Given the description of an element on the screen output the (x, y) to click on. 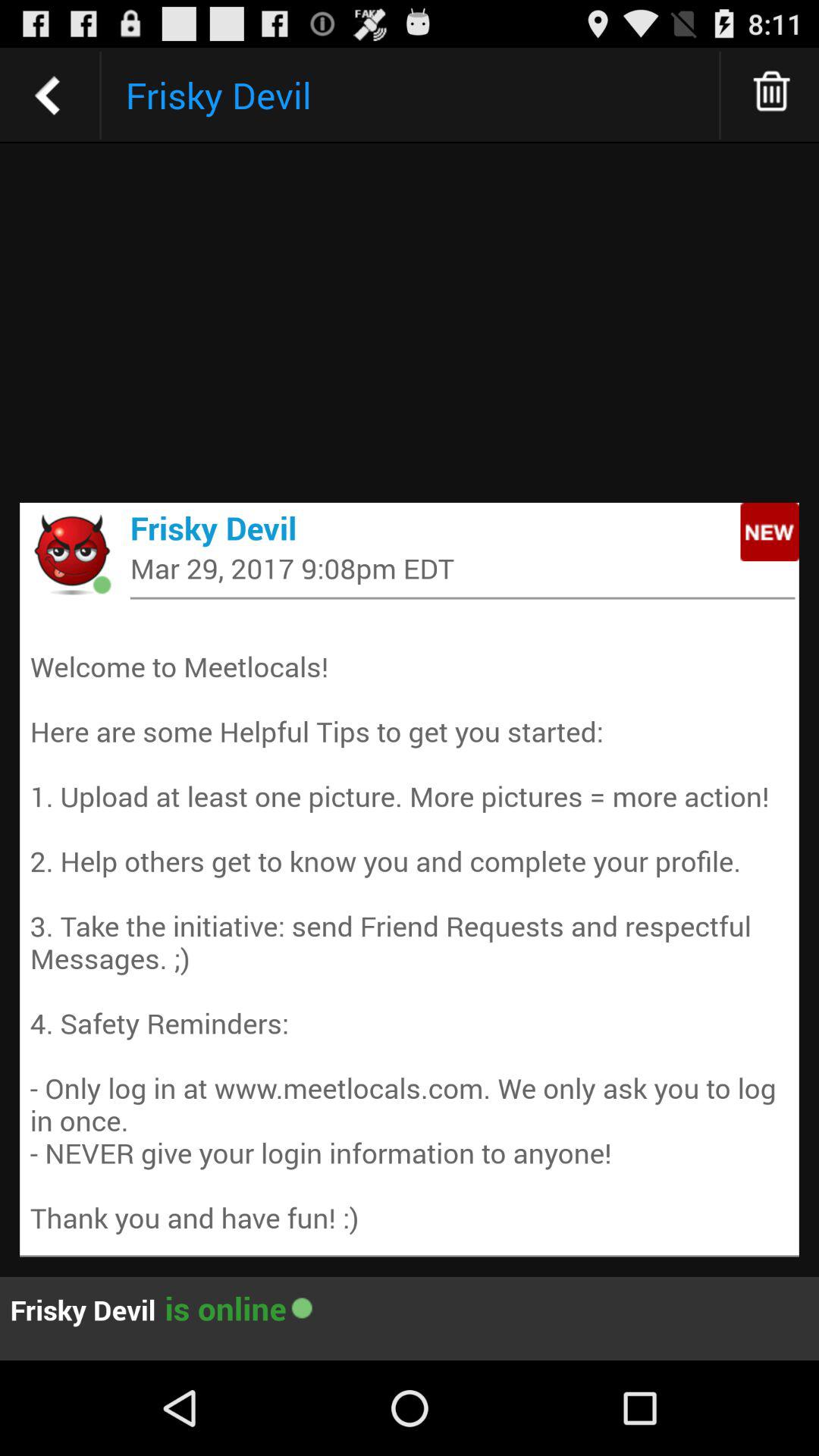
go back (47, 95)
